Given the description of an element on the screen output the (x, y) to click on. 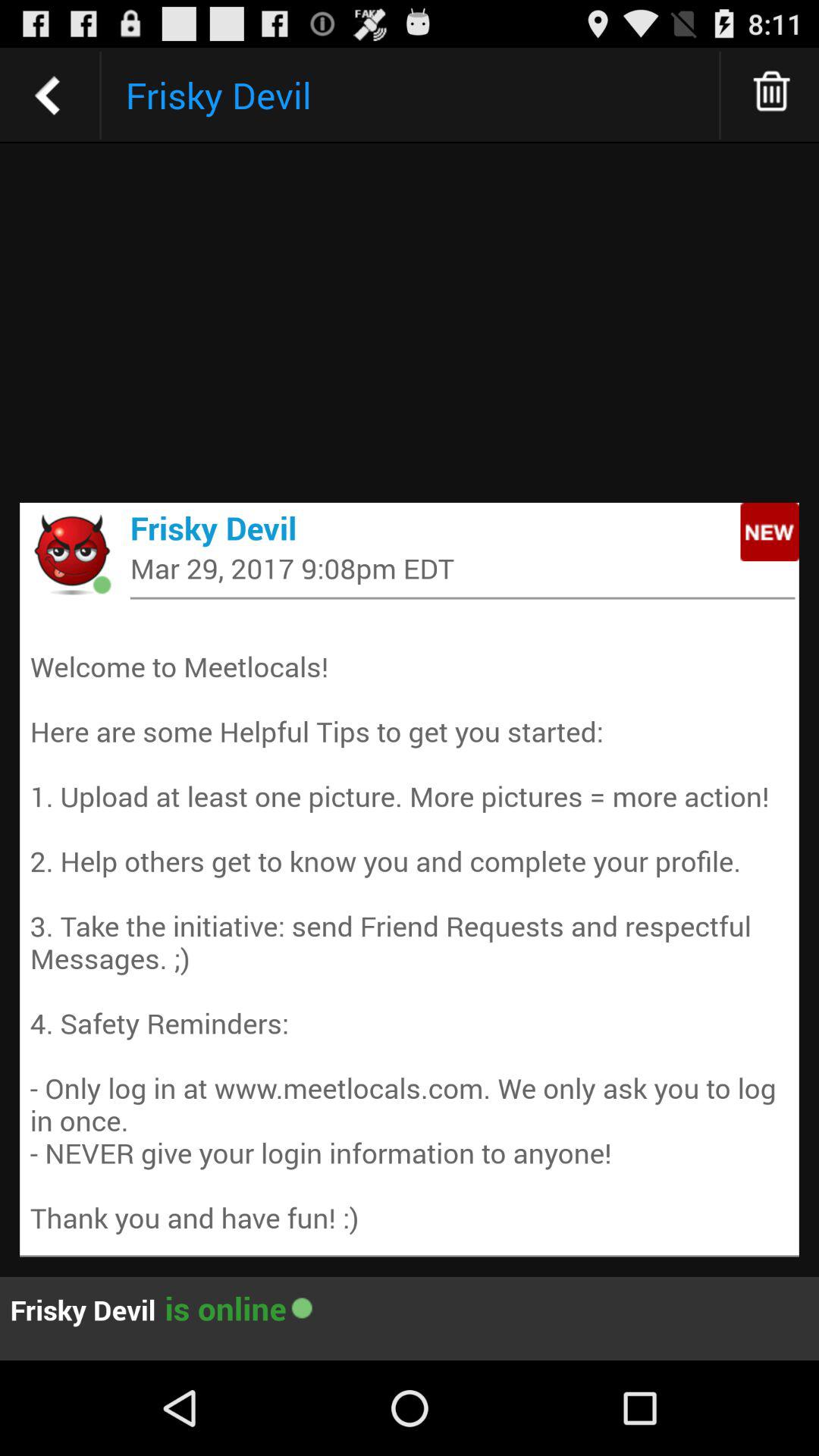
go back (47, 95)
